Given the description of an element on the screen output the (x, y) to click on. 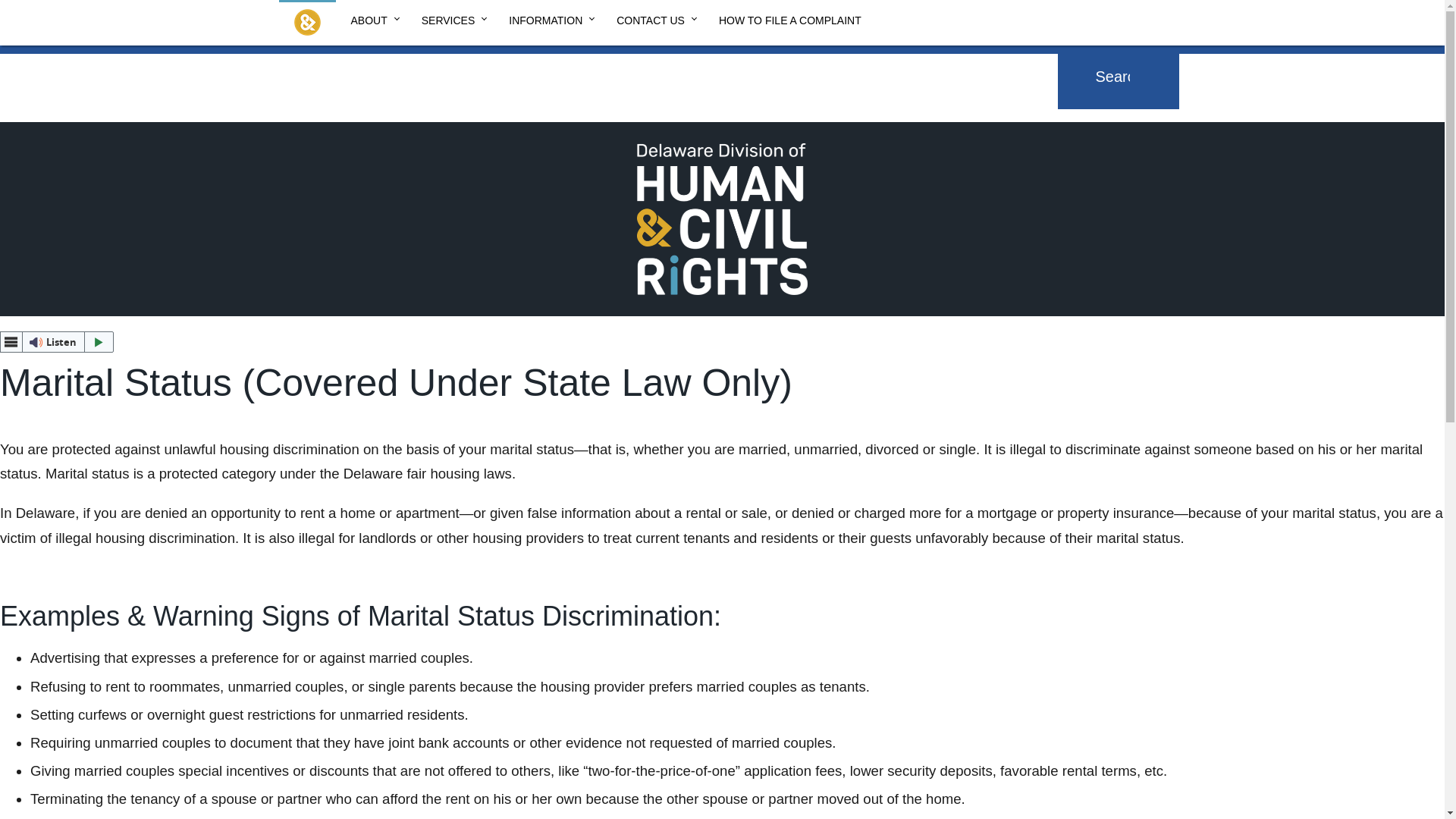
Listen (56, 341)
HOW TO FILE A COMPLAINT (789, 18)
CONTACT US (652, 18)
Agencies (286, 60)
Submit (1161, 62)
ABOUT (370, 18)
SERVICES (450, 18)
News (347, 60)
Contact (461, 60)
INFORMATION (547, 18)
Listen to this page using ReadSpeaker (56, 341)
webReader menu (11, 341)
Topics (400, 60)
